Given the description of an element on the screen output the (x, y) to click on. 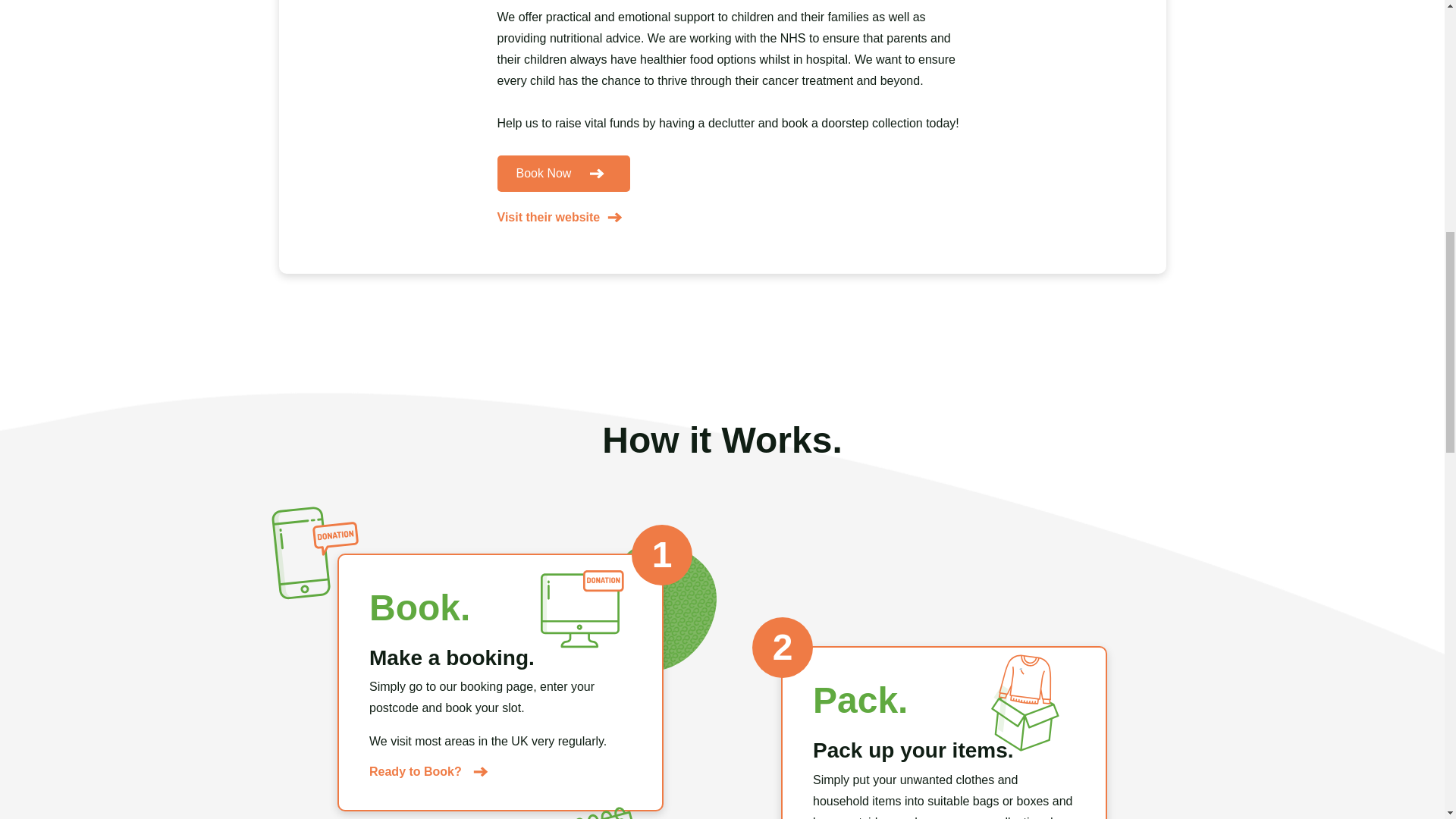
Visit their website (560, 217)
Book Now (563, 173)
Ready to Book? (428, 771)
